Given the description of an element on the screen output the (x, y) to click on. 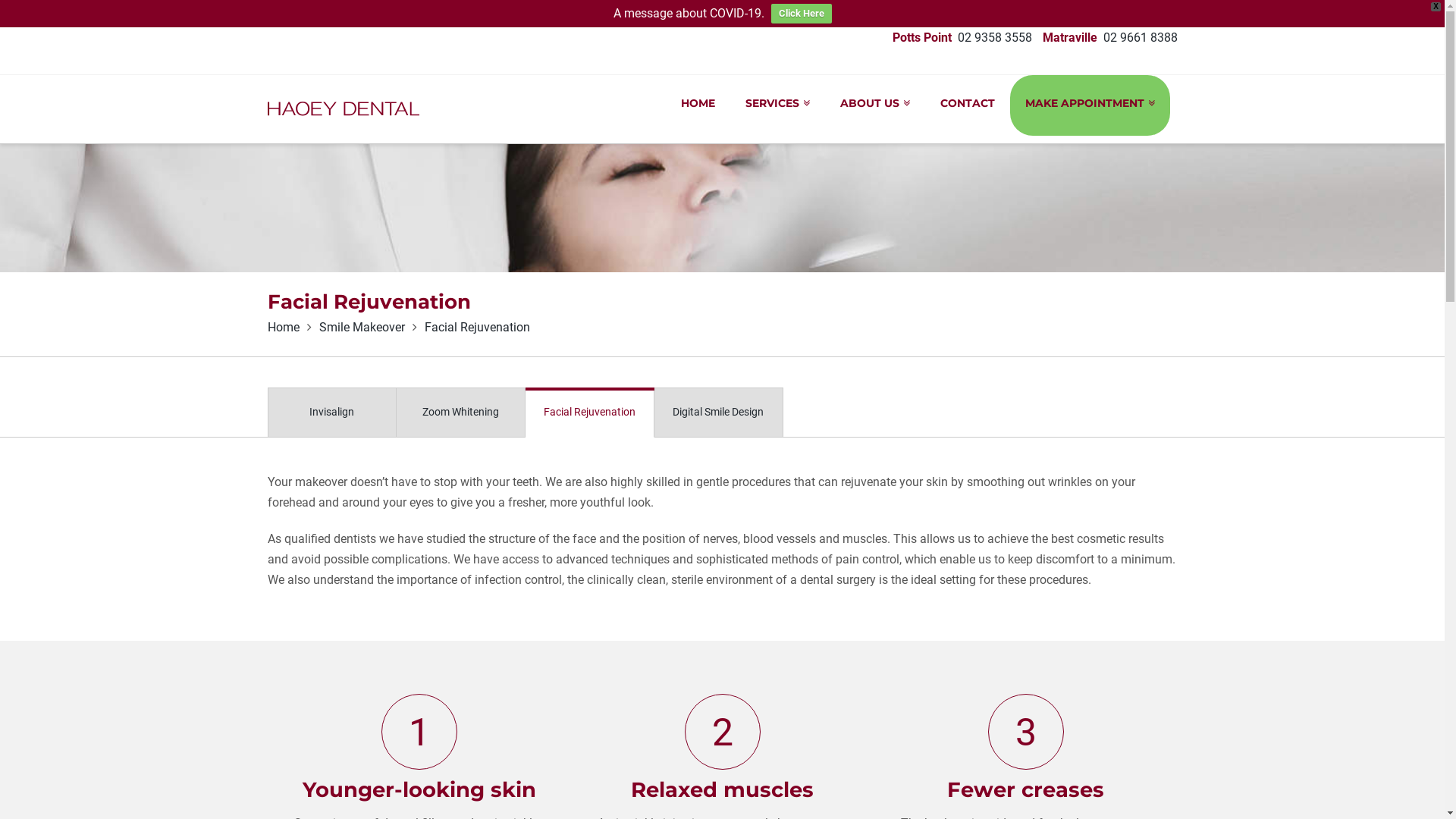
CONTACT Element type: text (967, 105)
02 9661 8388 Element type: text (1139, 37)
Home Element type: text (282, 327)
ABOUT US Element type: text (875, 105)
Smile Makeover Element type: text (361, 327)
02 9358 3558 Element type: text (994, 37)
Invisalign Element type: text (330, 412)
HOME Element type: text (697, 105)
Zoom Whitening Element type: text (459, 412)
Click Here Element type: text (800, 13)
Digital Smile Design Element type: text (717, 412)
Facial Rejuvenation Element type: text (588, 412)
SERVICES Element type: text (777, 105)
MAKE APPOINTMENT Element type: text (1090, 105)
Facial Rejuvenation Element type: text (477, 327)
